Given the description of an element on the screen output the (x, y) to click on. 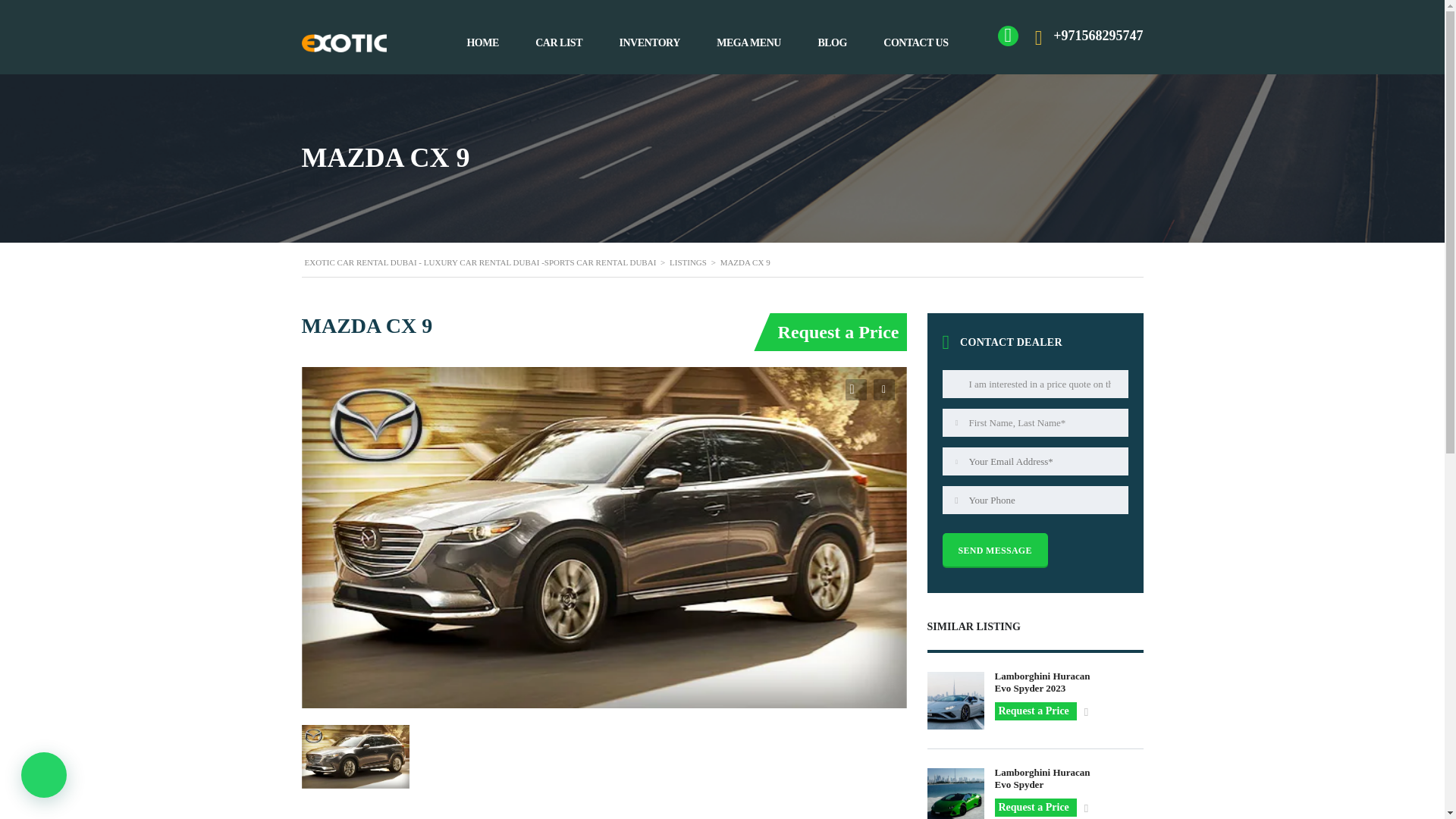
MEGA MENU (748, 42)
Home (344, 43)
INVENTORY (648, 42)
HOME (481, 42)
Send message (994, 549)
CAR LIST (558, 42)
